Given the description of an element on the screen output the (x, y) to click on. 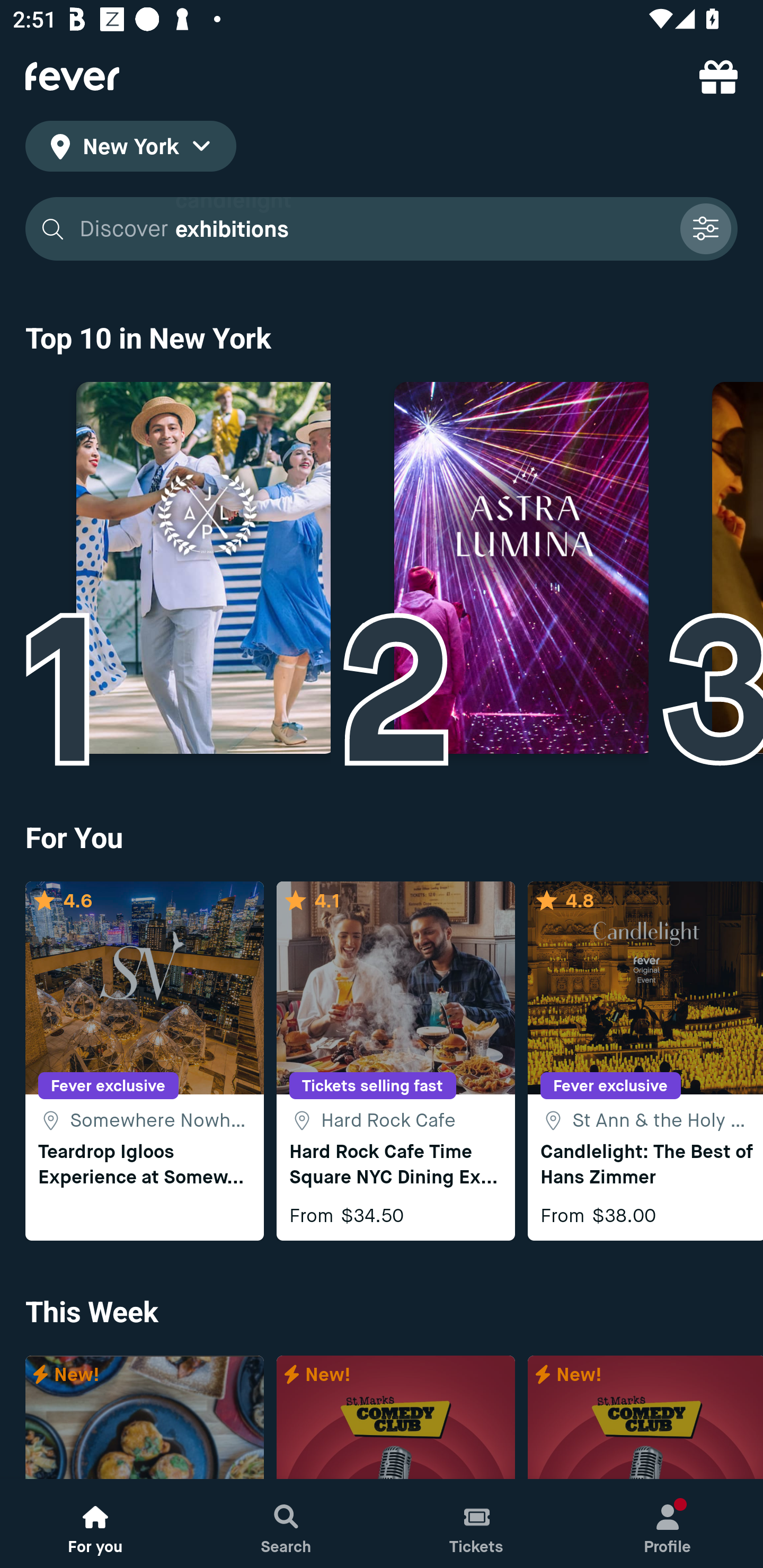
referral (718, 75)
location icon New York location icon (130, 149)
Discover candlelight exhibitions (381, 228)
Discover candlelight exhibitions (373, 228)
cover image New! label New! (144, 1417)
cover image New! label New! Fever exclusive (395, 1417)
cover image New! label New! Fever exclusive (645, 1417)
Search (285, 1523)
Tickets (476, 1523)
Profile, New notification Profile (667, 1523)
